Given the description of an element on the screen output the (x, y) to click on. 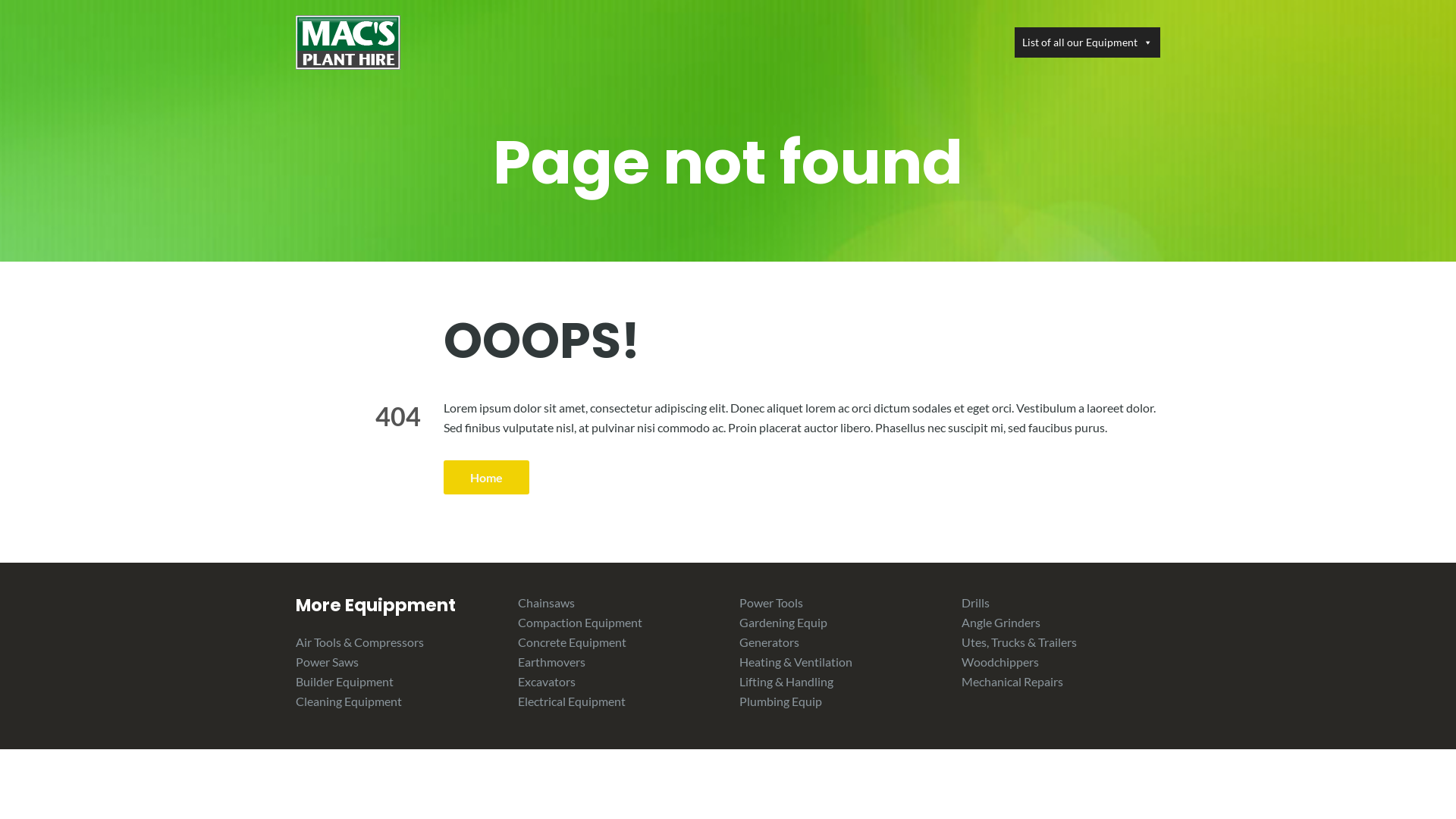
Compaction Equipment Element type: text (579, 622)
Earthmovers Element type: text (550, 661)
Cleaning Equipment Element type: text (348, 700)
Drills Element type: text (975, 602)
Electrical Equipment Element type: text (570, 700)
Lifting & Handling Element type: text (786, 681)
Macs Plant Hire | Rent or Hire Equipment, Tools & Supplies Element type: hover (347, 40)
Heating & Ventilation Element type: text (795, 661)
Power Saws Element type: text (326, 661)
Air Tools & Compressors Element type: text (359, 641)
Excavators Element type: text (545, 681)
Power Tools Element type: text (771, 602)
Plumbing Equip Element type: text (780, 700)
Concrete Equipment Element type: text (571, 641)
Mechanical Repairs Element type: text (1012, 681)
Builder Equipment Element type: text (344, 681)
Home Element type: text (486, 477)
Utes, Trucks & Trailers Element type: text (1018, 641)
Generators Element type: text (769, 641)
Chainsaws Element type: text (545, 602)
List of all our Equipment Element type: text (1087, 42)
Woodchippers Element type: text (999, 661)
Angle Grinders Element type: text (1000, 622)
Gardening Equip Element type: text (783, 622)
